Given the description of an element on the screen output the (x, y) to click on. 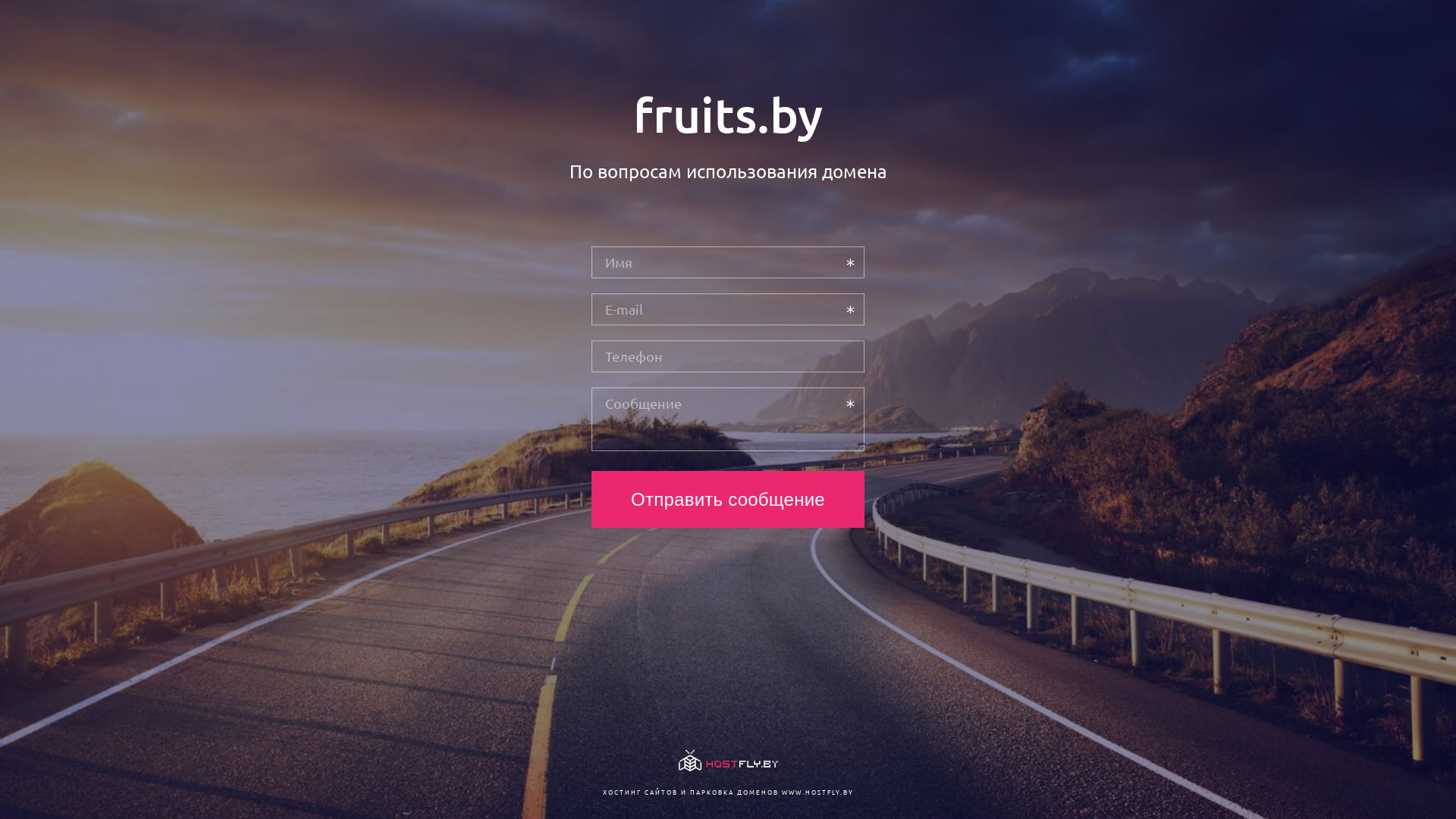
WWW.HOSTFLY.BY Element type: text (817, 791)
